Given the description of an element on the screen output the (x, y) to click on. 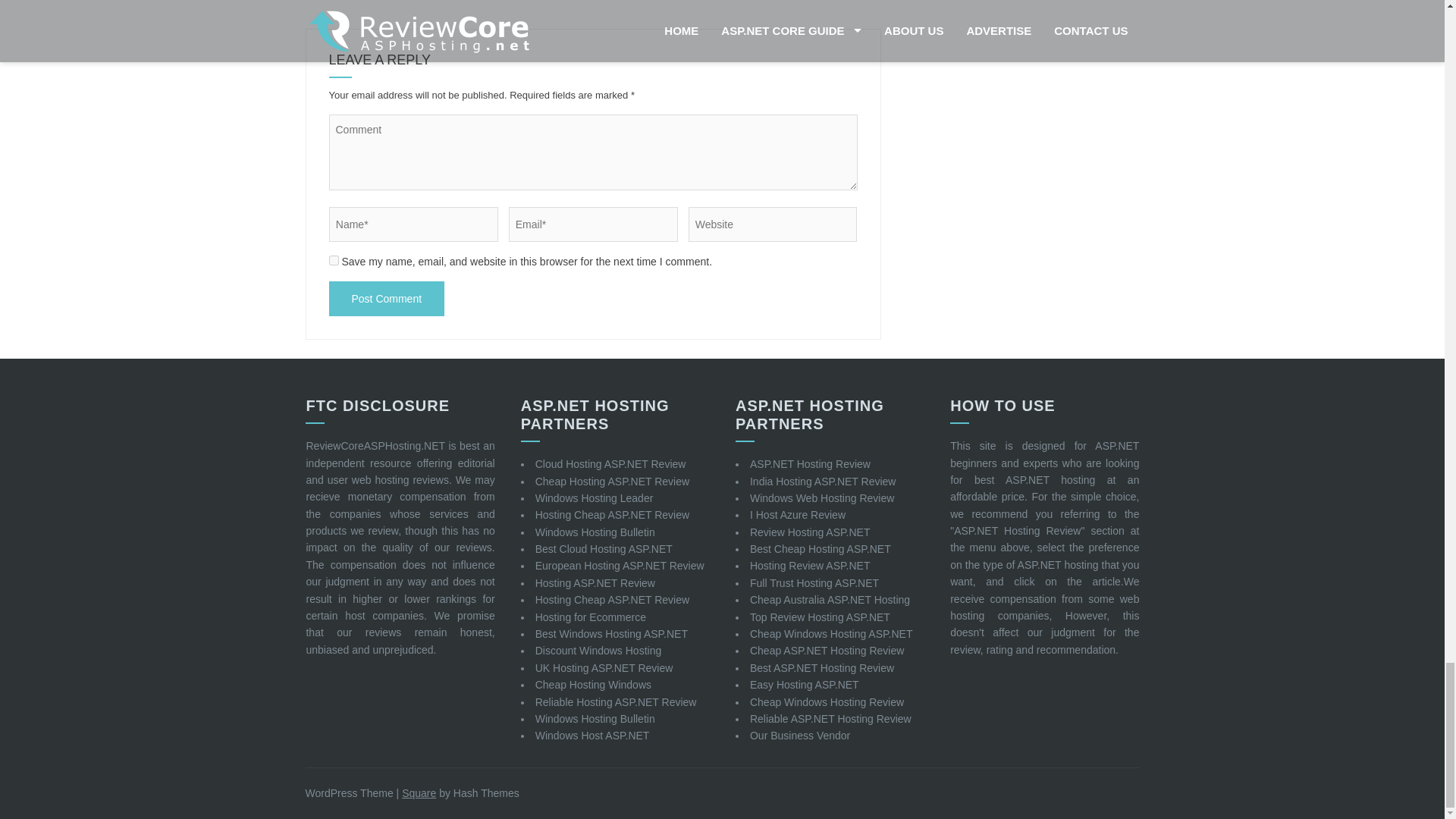
yes (334, 260)
Post Comment (387, 298)
Post Comment (387, 298)
